Given the description of an element on the screen output the (x, y) to click on. 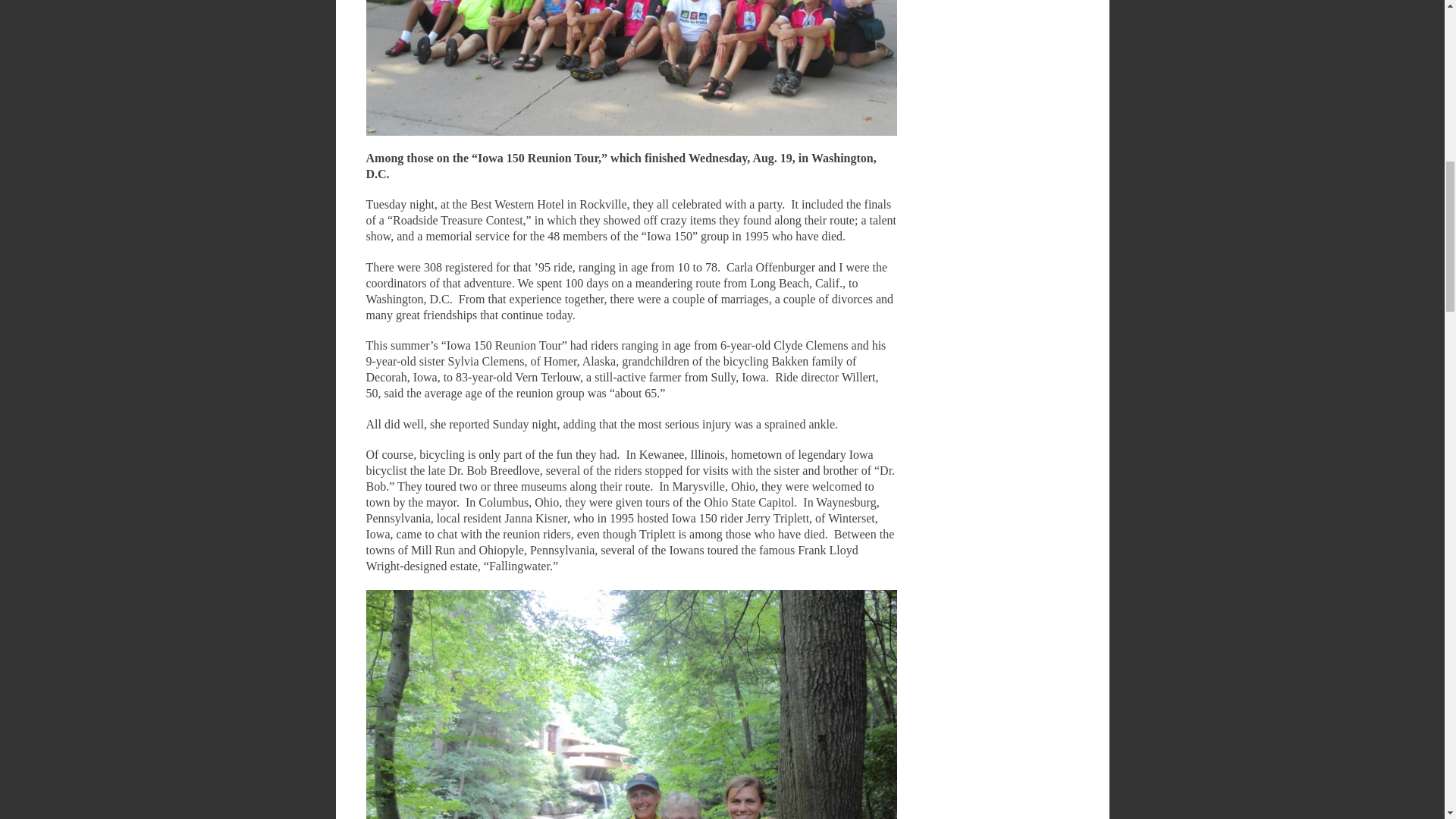
5 Those on the Iowa 150 Reunion Tour.JPG (630, 67)
Nydegger Willerts at Fallingwater mid-August.jpg (630, 704)
